Given the description of an element on the screen output the (x, y) to click on. 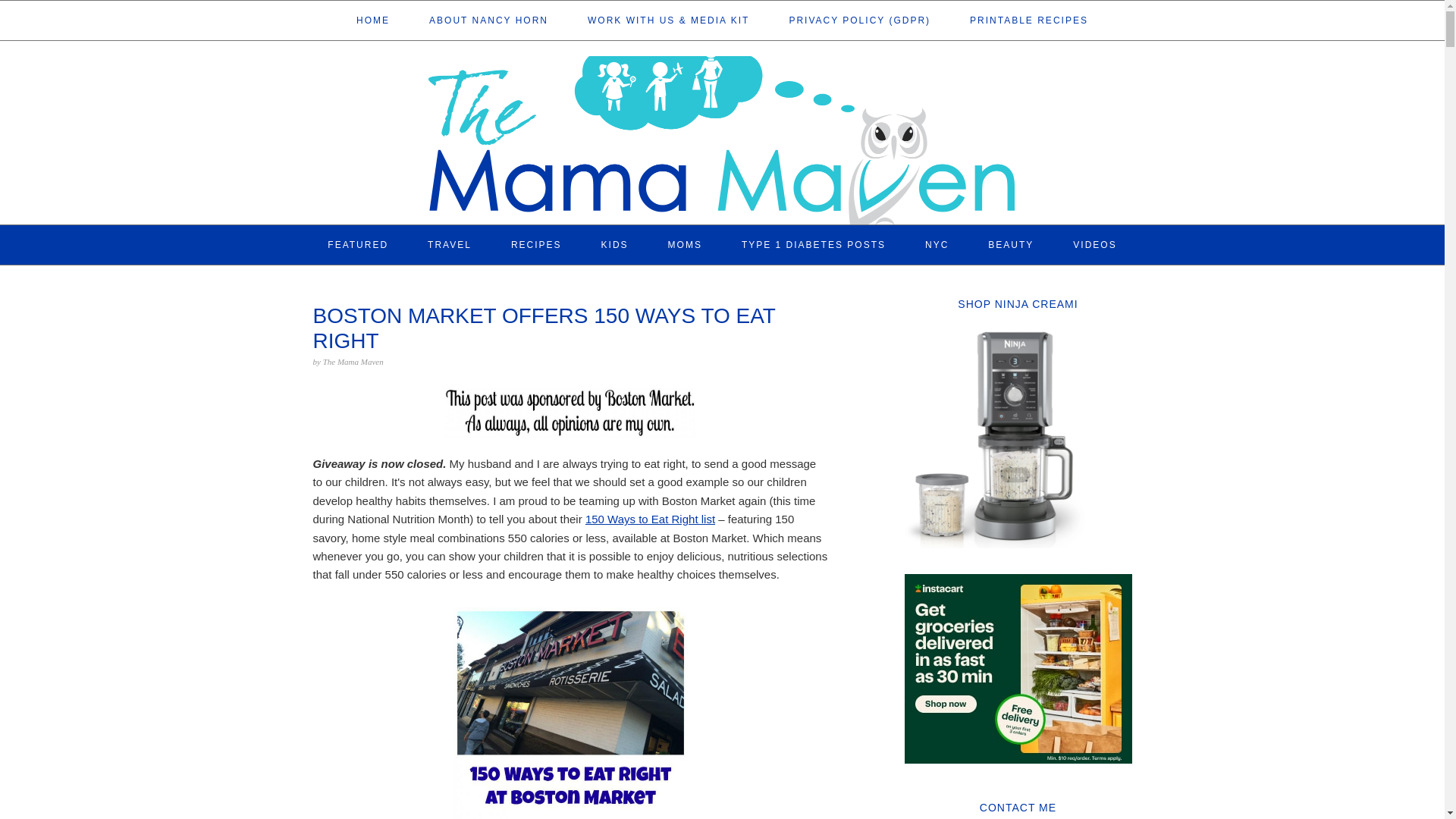
ABOUT NANCY HORN (488, 20)
NYC (936, 244)
KIDS (614, 244)
TRAVEL (449, 244)
TYPE 1 DIABETES POSTS (813, 244)
FEATURED (357, 244)
PRINTABLE RECIPES (1028, 20)
HOME (373, 20)
VIDEOS (1094, 244)
